Given the description of an element on the screen output the (x, y) to click on. 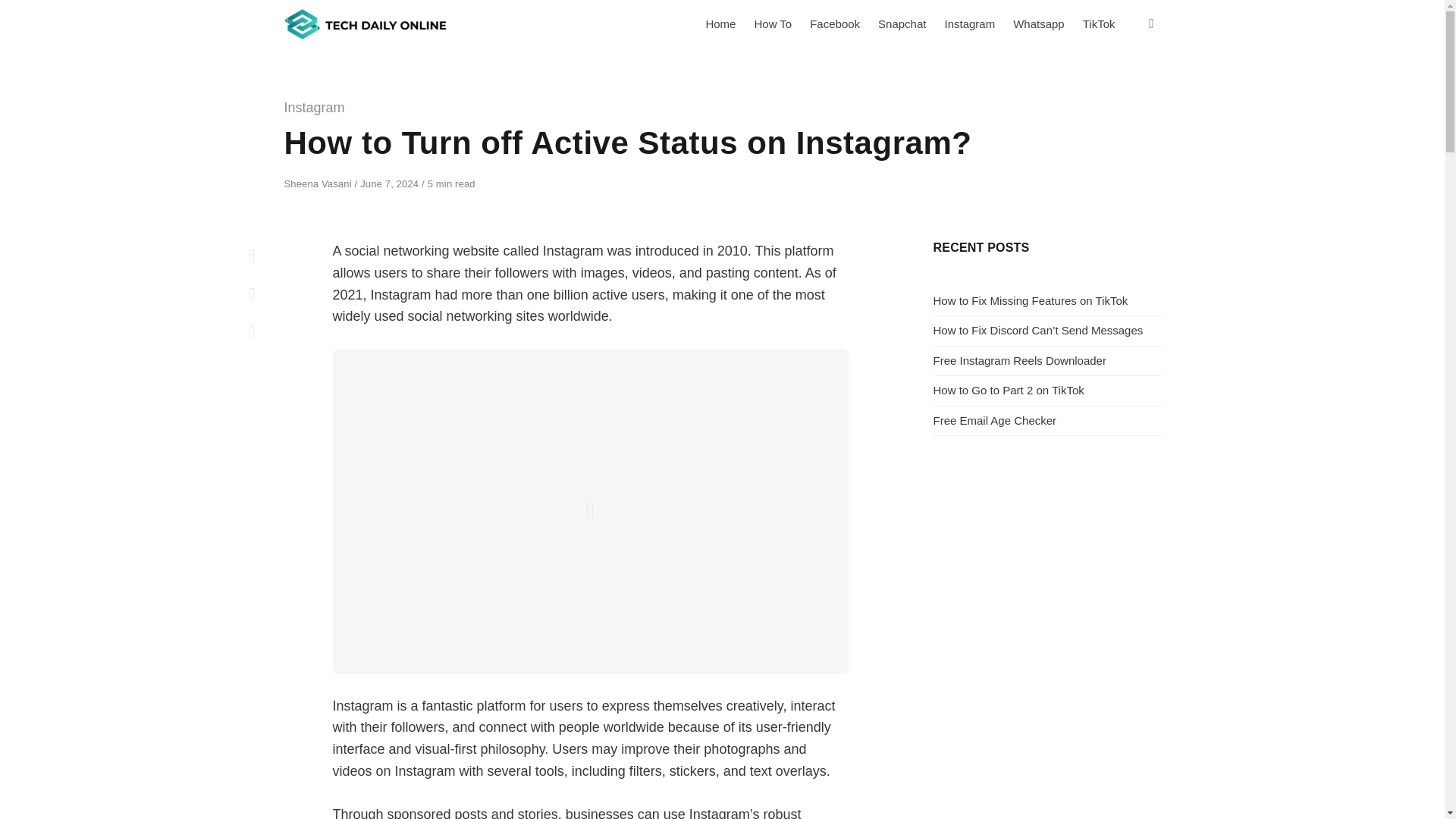
How to Fix Missing Features on TikTok (1029, 300)
Facebook (834, 24)
Home (719, 24)
Whatsapp (1039, 24)
Instagram (969, 24)
June 7, 2024 (390, 183)
TikTok (1099, 24)
Instagram (313, 107)
Sheena Vasani (318, 183)
Free Instagram Reels Downloader (1019, 359)
